Given the description of an element on the screen output the (x, y) to click on. 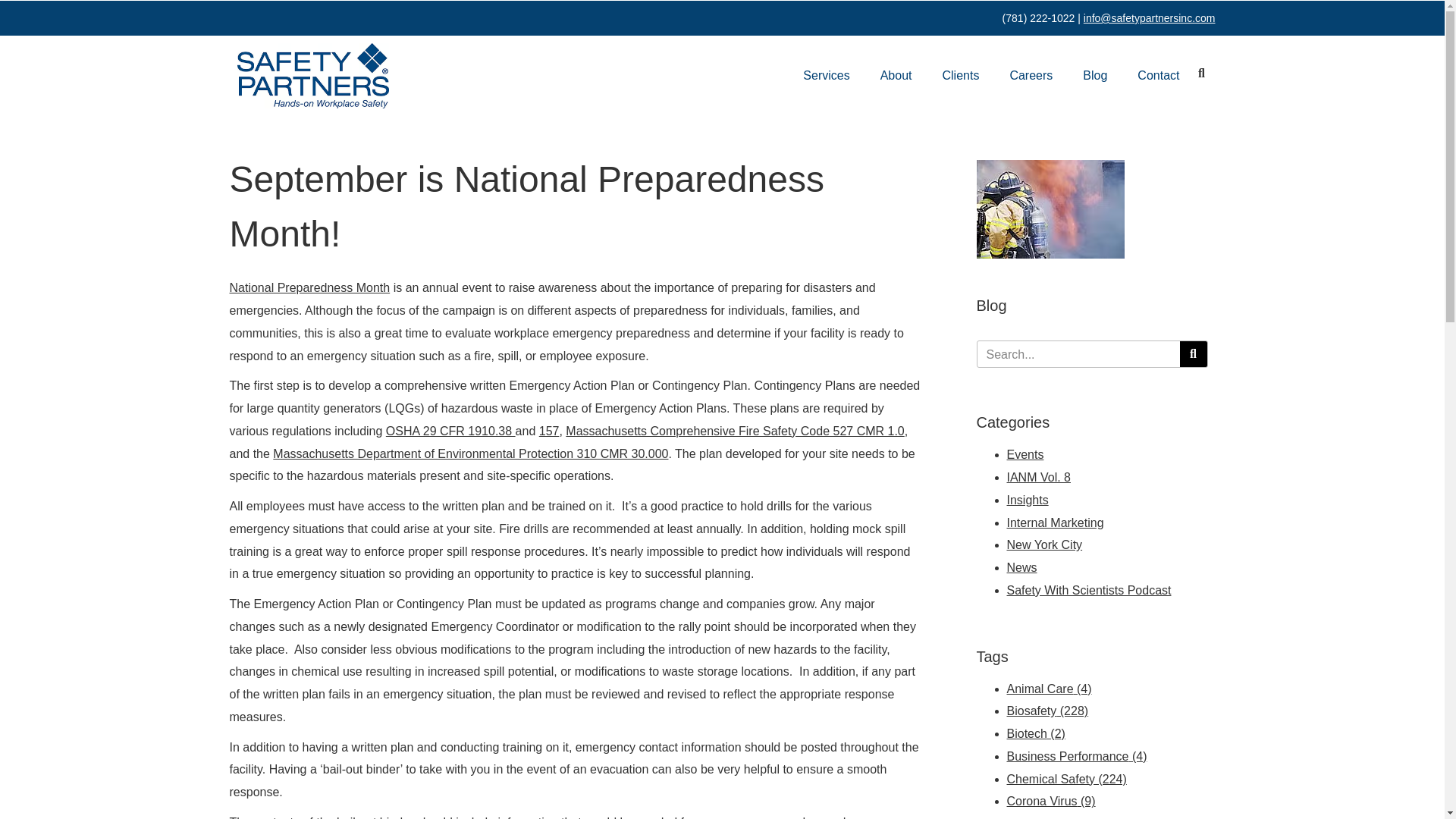
Contact (1158, 75)
Careers (1031, 75)
OSHA 29 CFR 1910.38 (450, 431)
Massachusetts Comprehensive Fire Safety Code 527 CMR 1.0 (735, 431)
157 (548, 431)
Clients (961, 75)
National Preparedness Month (309, 287)
Services (826, 75)
